Given the description of an element on the screen output the (x, y) to click on. 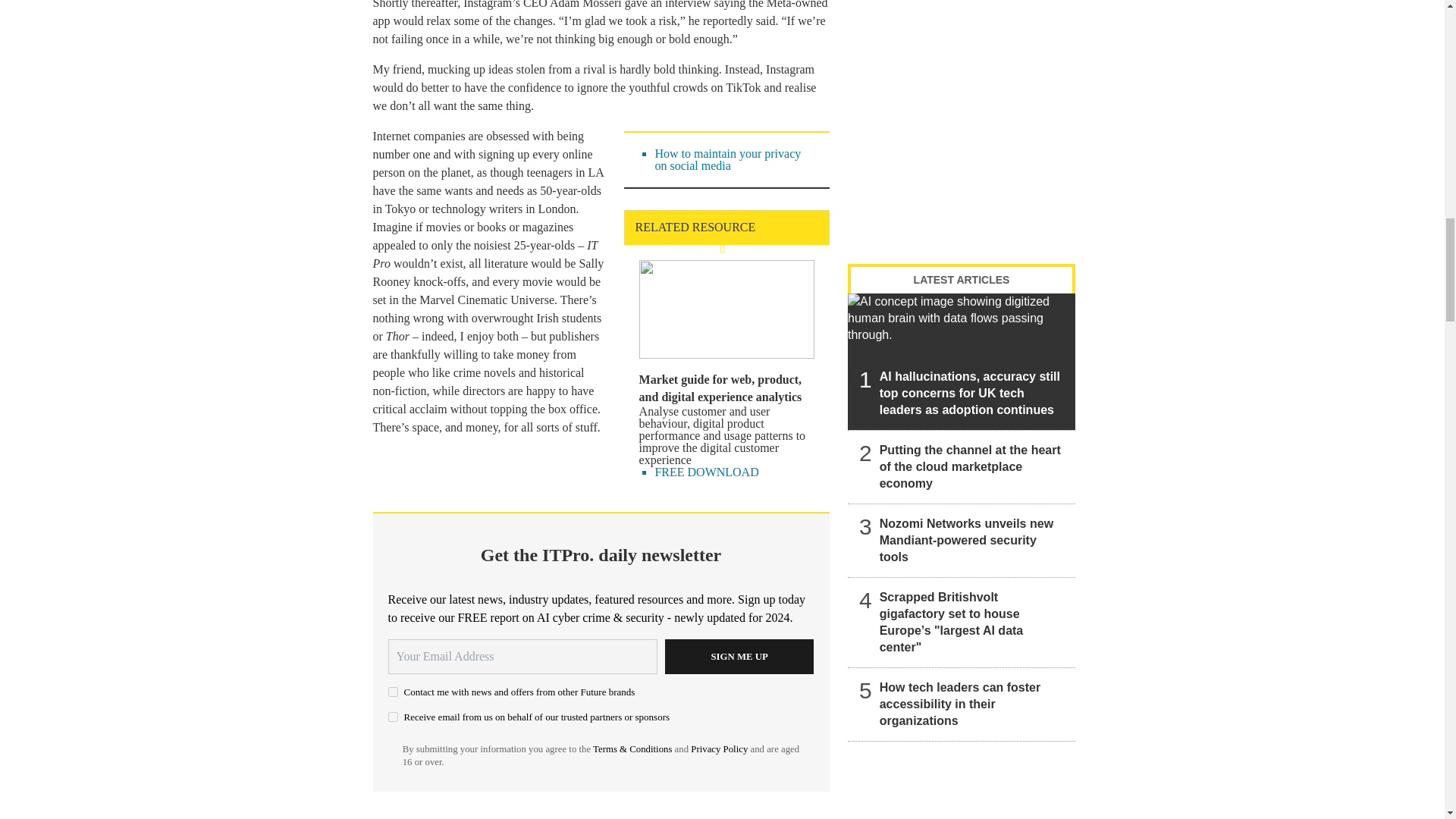
on (392, 716)
on (392, 691)
Sign me up (739, 656)
